Given the description of an element on the screen output the (x, y) to click on. 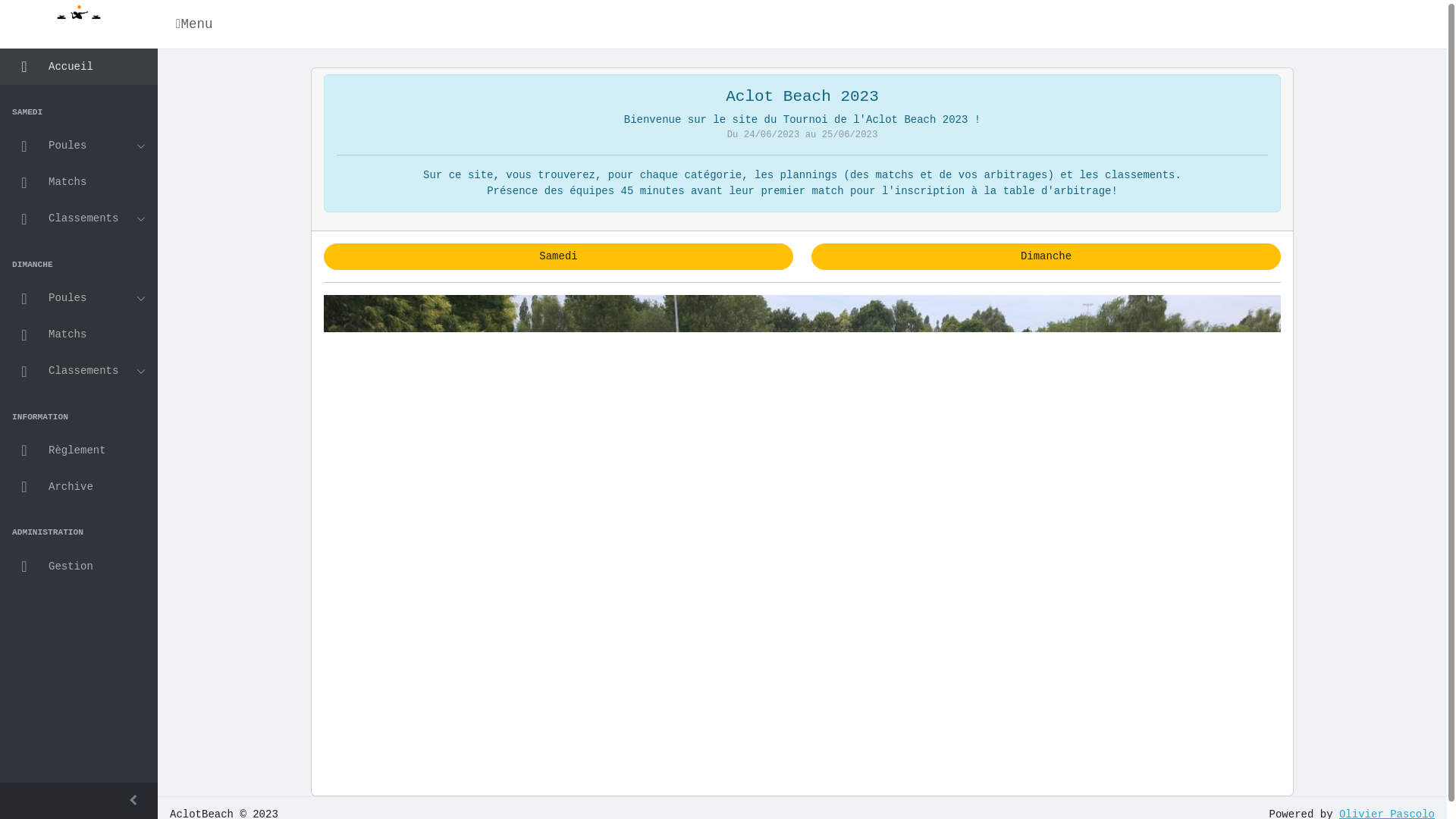
Classements Element type: text (78, 218)
Classements Element type: text (78, 371)
Samedi Element type: text (558, 256)
Matchs Element type: text (78, 334)
Gestion Element type: text (78, 566)
Archive Element type: text (78, 486)
Poules Element type: text (78, 298)
Poules Element type: text (78, 146)
Accueil Element type: text (78, 66)
Dimanche Element type: text (1045, 256)
Matchs Element type: text (78, 182)
Menu Element type: text (196, 24)
